Given the description of an element on the screen output the (x, y) to click on. 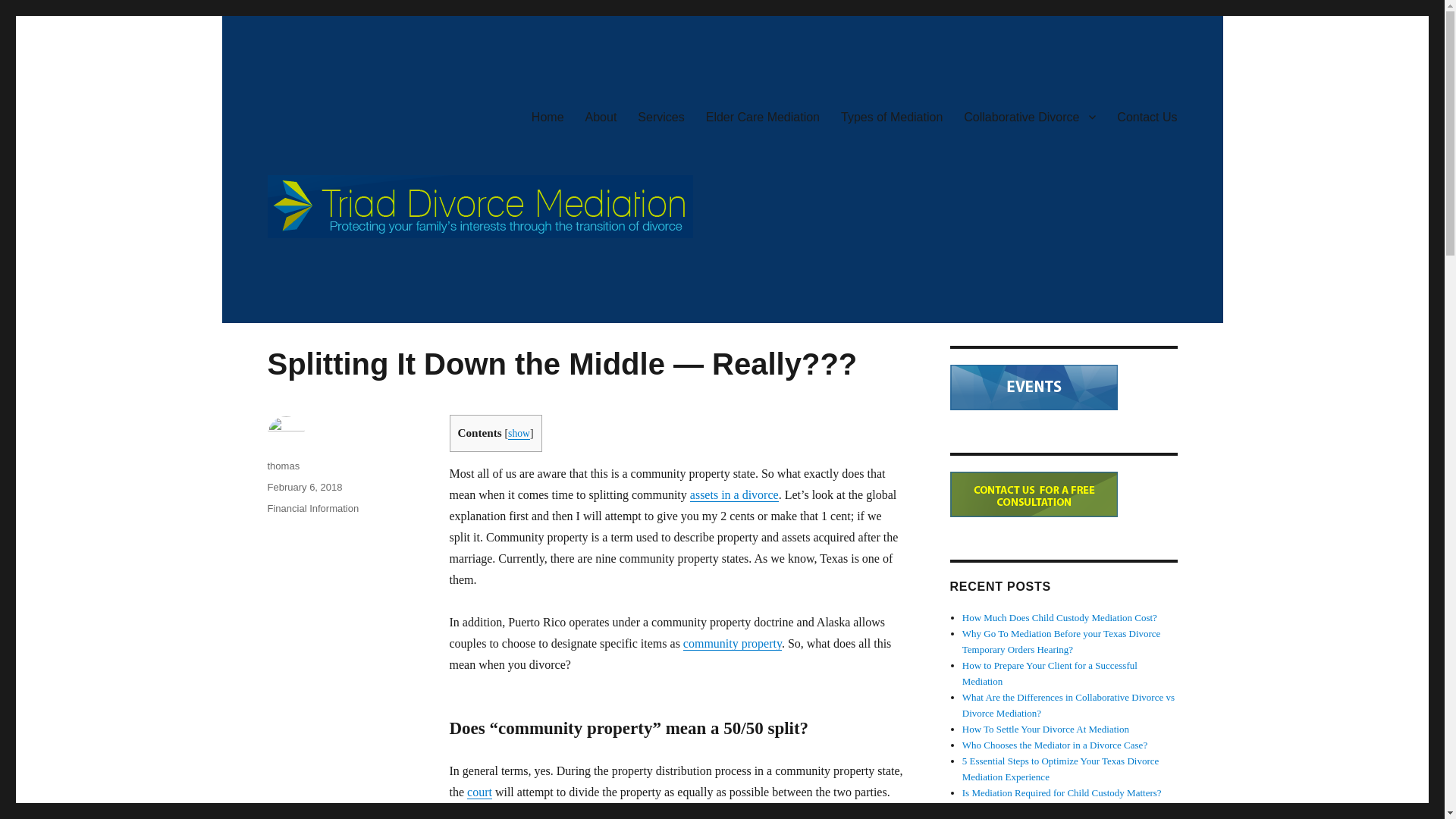
How Much Does Child Custody Mediation Cost? (1059, 617)
community property (731, 643)
show (518, 432)
court (479, 791)
court (479, 791)
Who Chooses the Mediator in a Divorce Case? (1054, 745)
Home (548, 116)
Is Mediation Required for Child Custody Matters? (1061, 792)
thomas (282, 465)
